Given the description of an element on the screen output the (x, y) to click on. 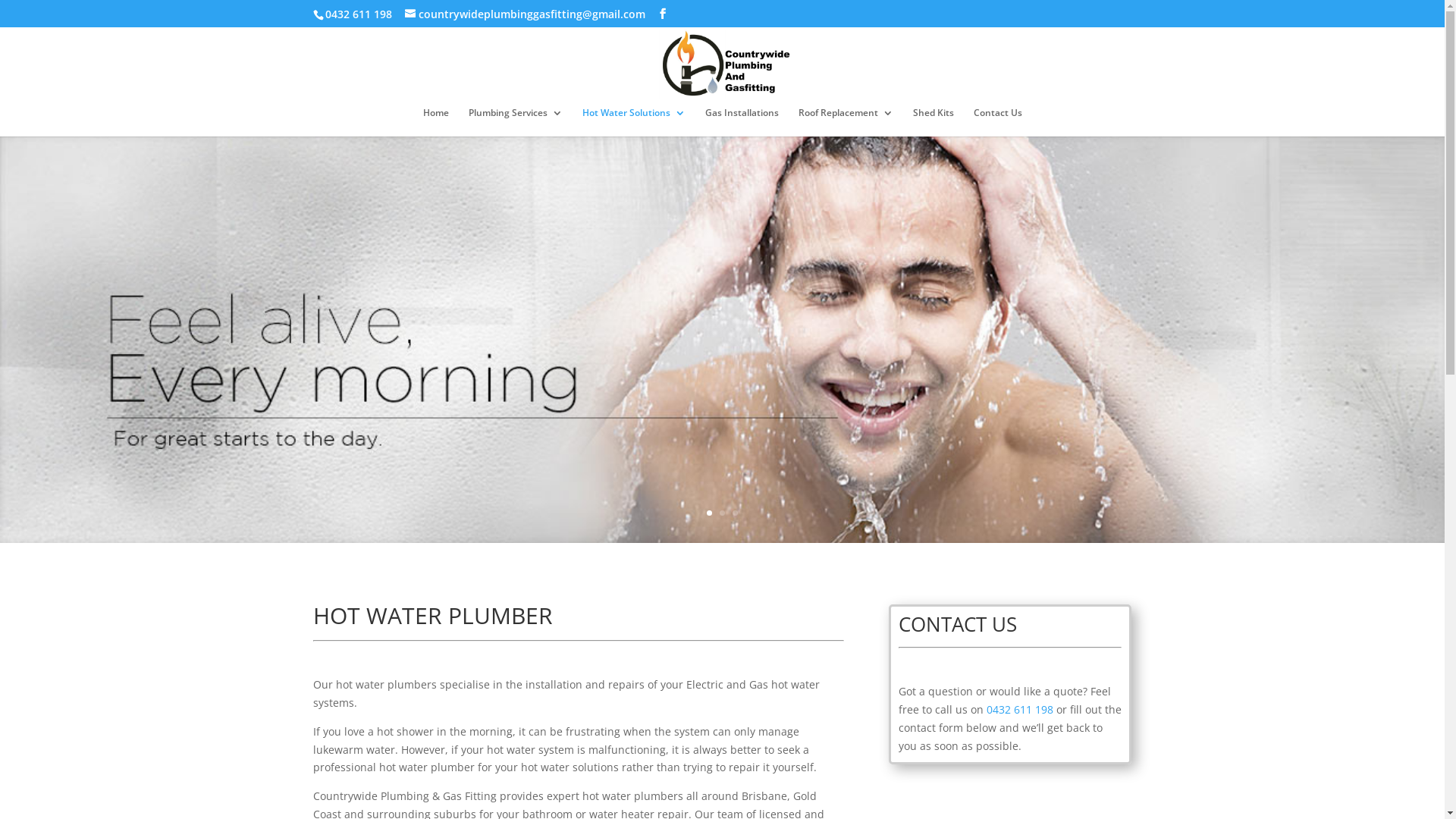
2 Element type: text (721, 512)
3 Element type: text (734, 512)
1 Element type: text (709, 512)
Roof Replacement Element type: text (844, 121)
Hot Water Solutions Element type: text (633, 121)
0432 611 198 Element type: text (1019, 709)
Gas Installations Element type: text (741, 121)
countrywideplumbinggasfitting@gmail.com Element type: text (524, 13)
Home Element type: text (435, 121)
Shed Kits Element type: text (933, 121)
Plumbing Services Element type: text (515, 121)
Contact Us Element type: text (997, 121)
